Given the description of an element on the screen output the (x, y) to click on. 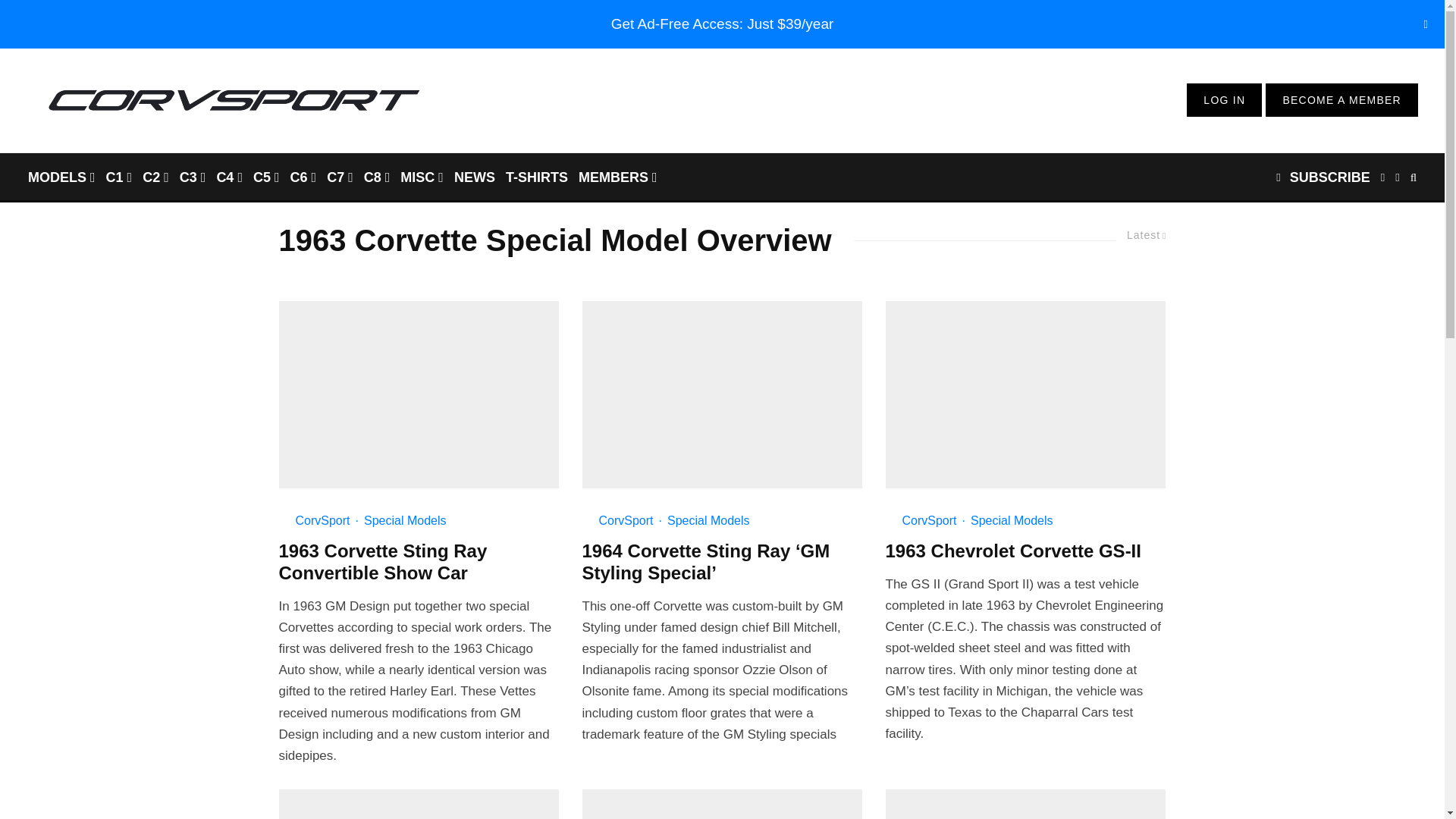
1963-chevrolet-corvette-rodine-1 (1025, 804)
1963 Corvette Barris Asteroid (722, 804)
MODELS (61, 176)
BECOME A MEMBER (1341, 100)
LOG IN (1224, 100)
